Given the description of an element on the screen output the (x, y) to click on. 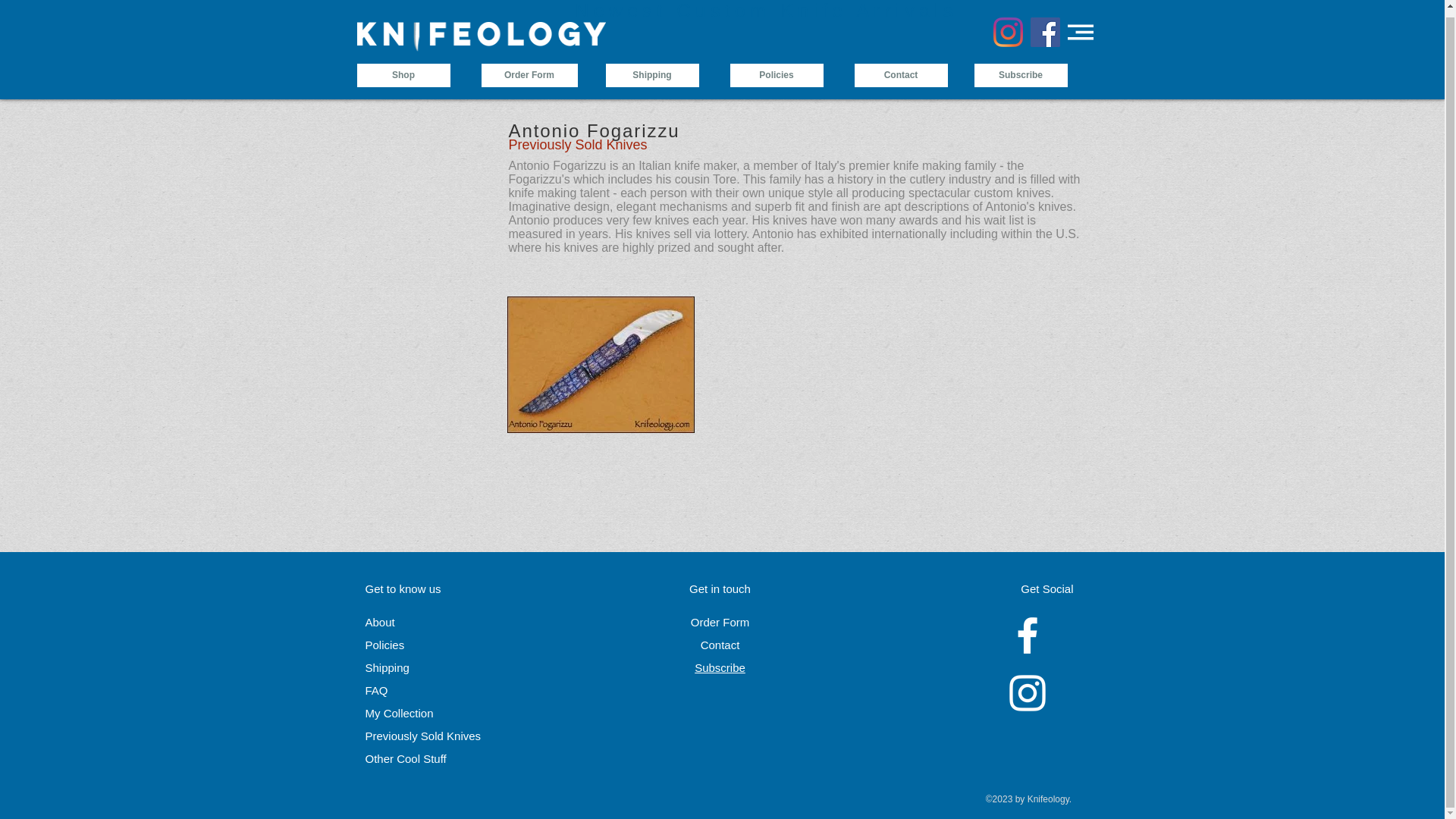
Order Form (719, 621)
About (379, 621)
Previously Sold Knives (423, 735)
My Collection (399, 712)
Contact (719, 644)
Shop (402, 69)
Contact (900, 69)
Other Cool Stuff (405, 758)
Shipping (651, 69)
Subscribe (719, 667)
Order Form (528, 69)
Shipping (387, 667)
Policies (384, 644)
Subscribe (1020, 69)
Policies (775, 69)
